Given the description of an element on the screen output the (x, y) to click on. 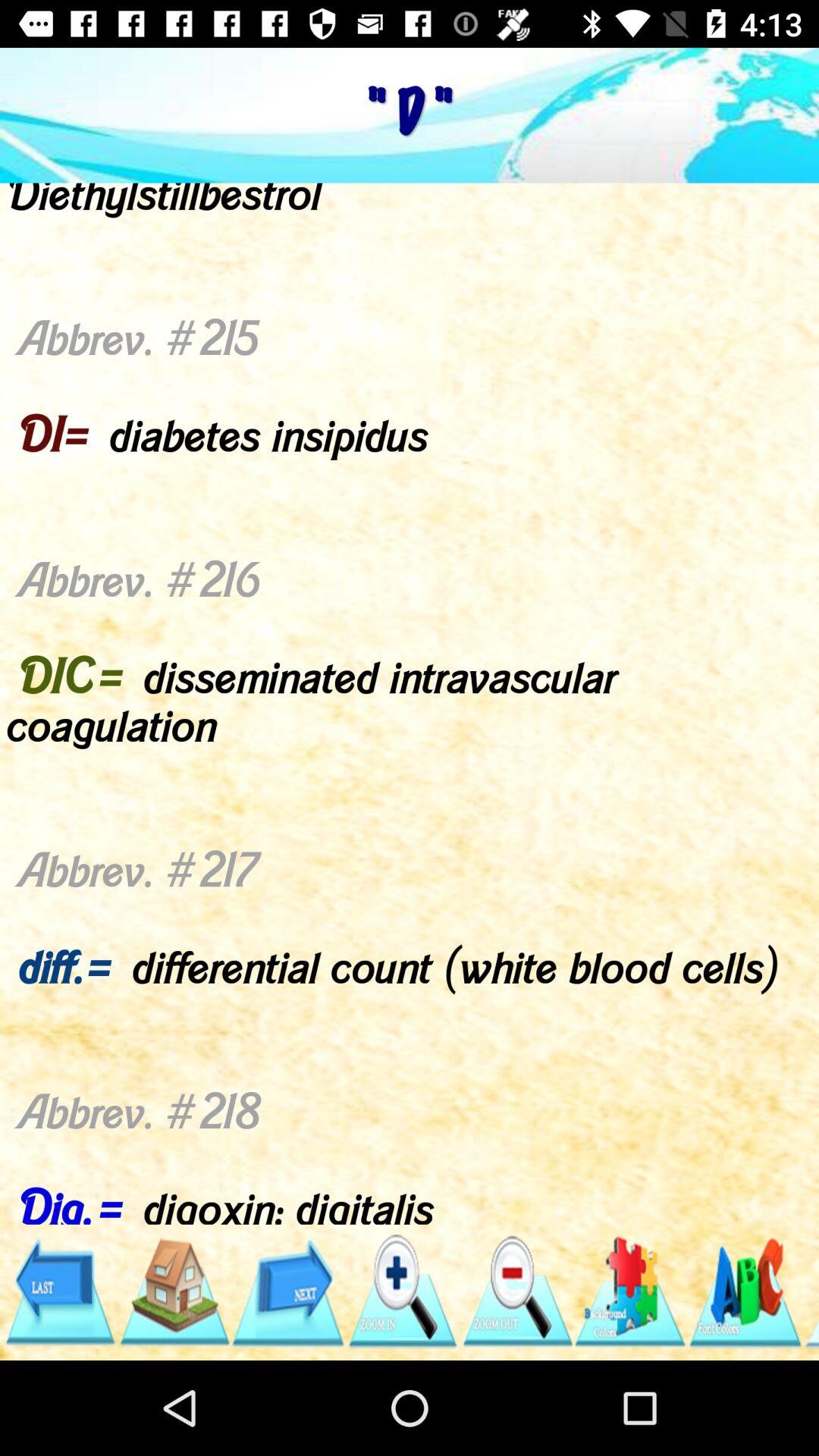
go to last (59, 1291)
